Given the description of an element on the screen output the (x, y) to click on. 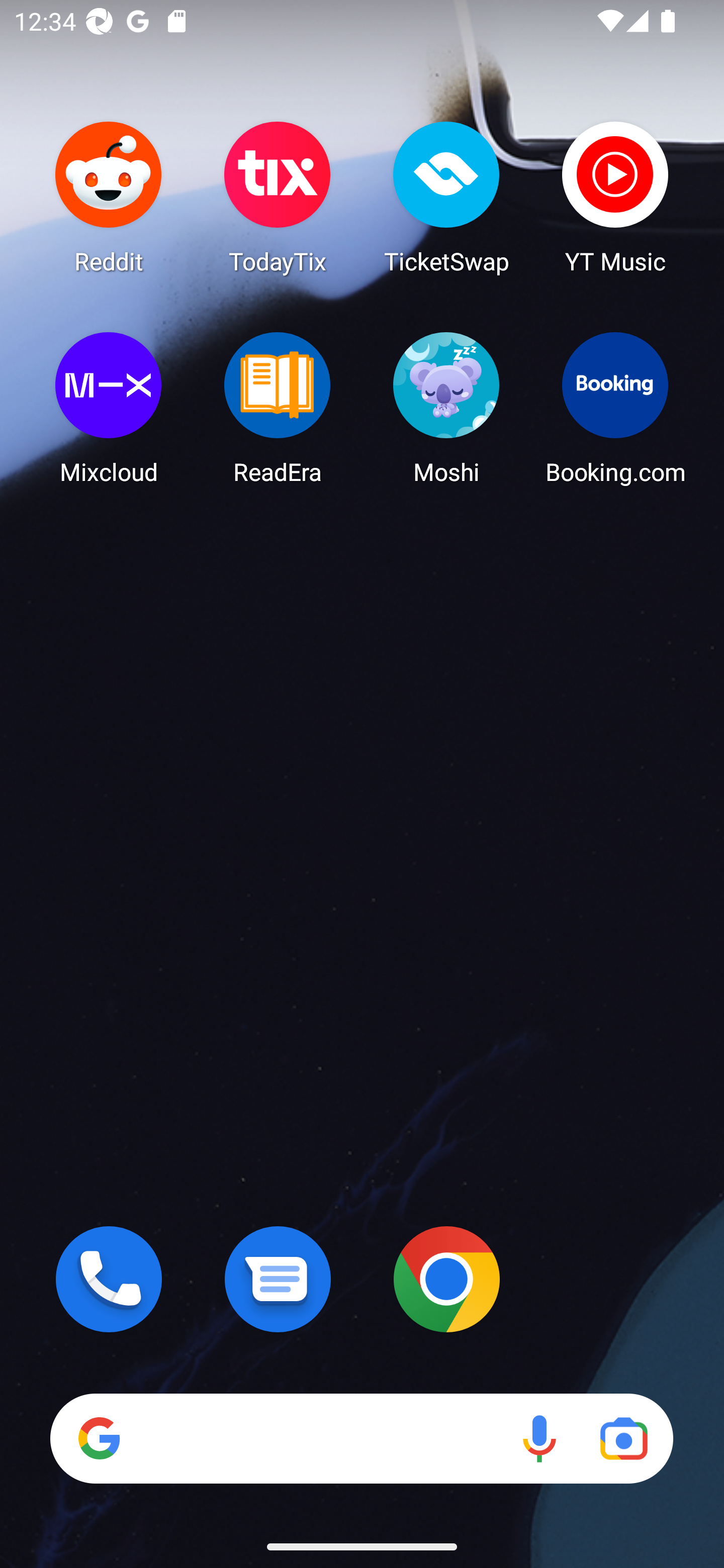
Reddit (108, 196)
TodayTix (277, 196)
TicketSwap (445, 196)
YT Music (615, 196)
Mixcloud (108, 407)
ReadEra (277, 407)
Moshi (445, 407)
Booking.com (615, 407)
Phone (108, 1279)
Messages (277, 1279)
Chrome (446, 1279)
Search Voice search Google Lens (361, 1438)
Voice search (539, 1438)
Google Lens (623, 1438)
